Given the description of an element on the screen output the (x, y) to click on. 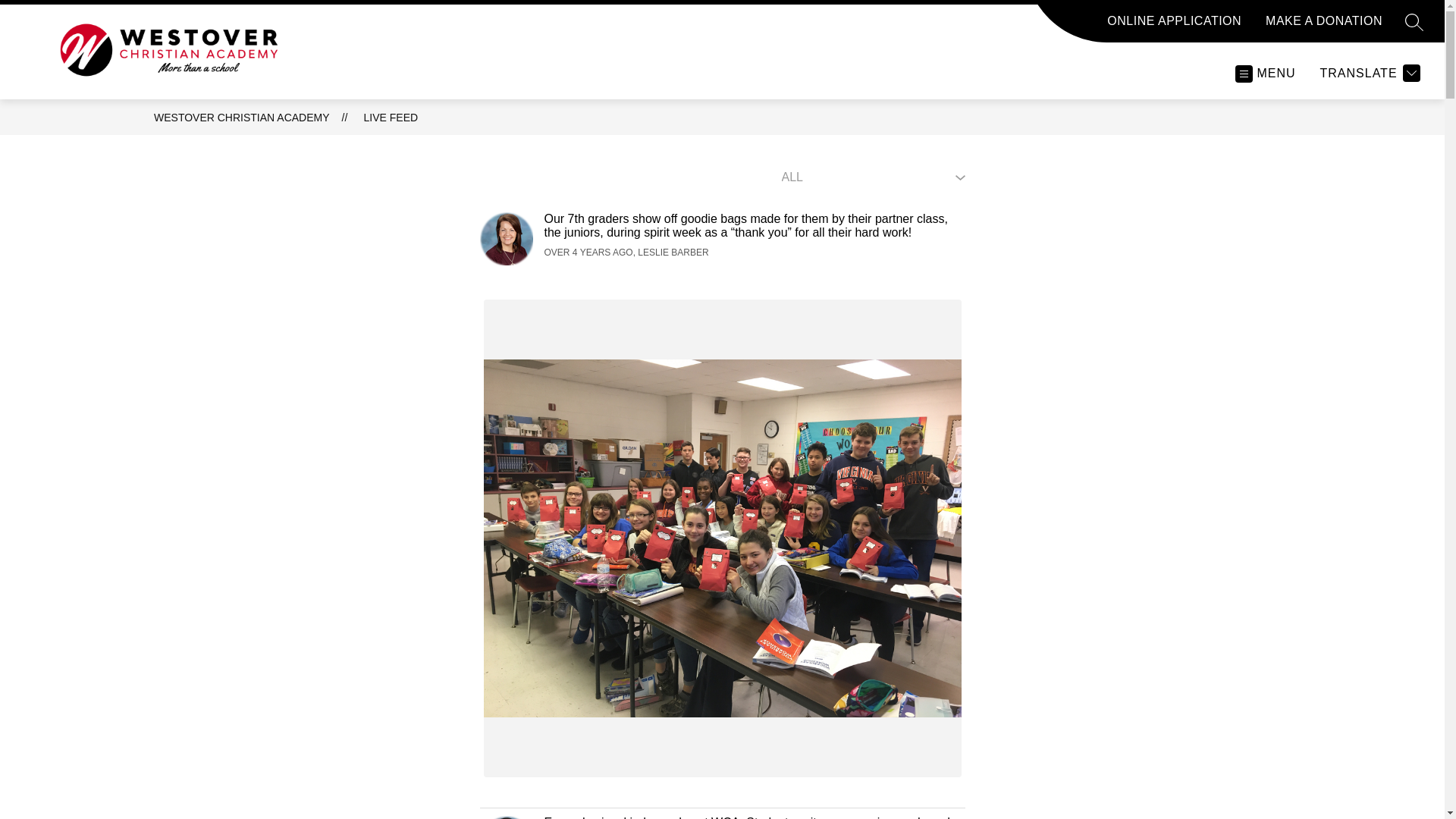
WESTOVER CHRISTIAN ACADEMY (242, 117)
MENU (1264, 72)
MAKE A DONATION (1323, 27)
LIVE FEED (391, 117)
ONLINE APPLICATION (1173, 27)
TRANSLATE (1370, 72)
